Given the description of an element on the screen output the (x, y) to click on. 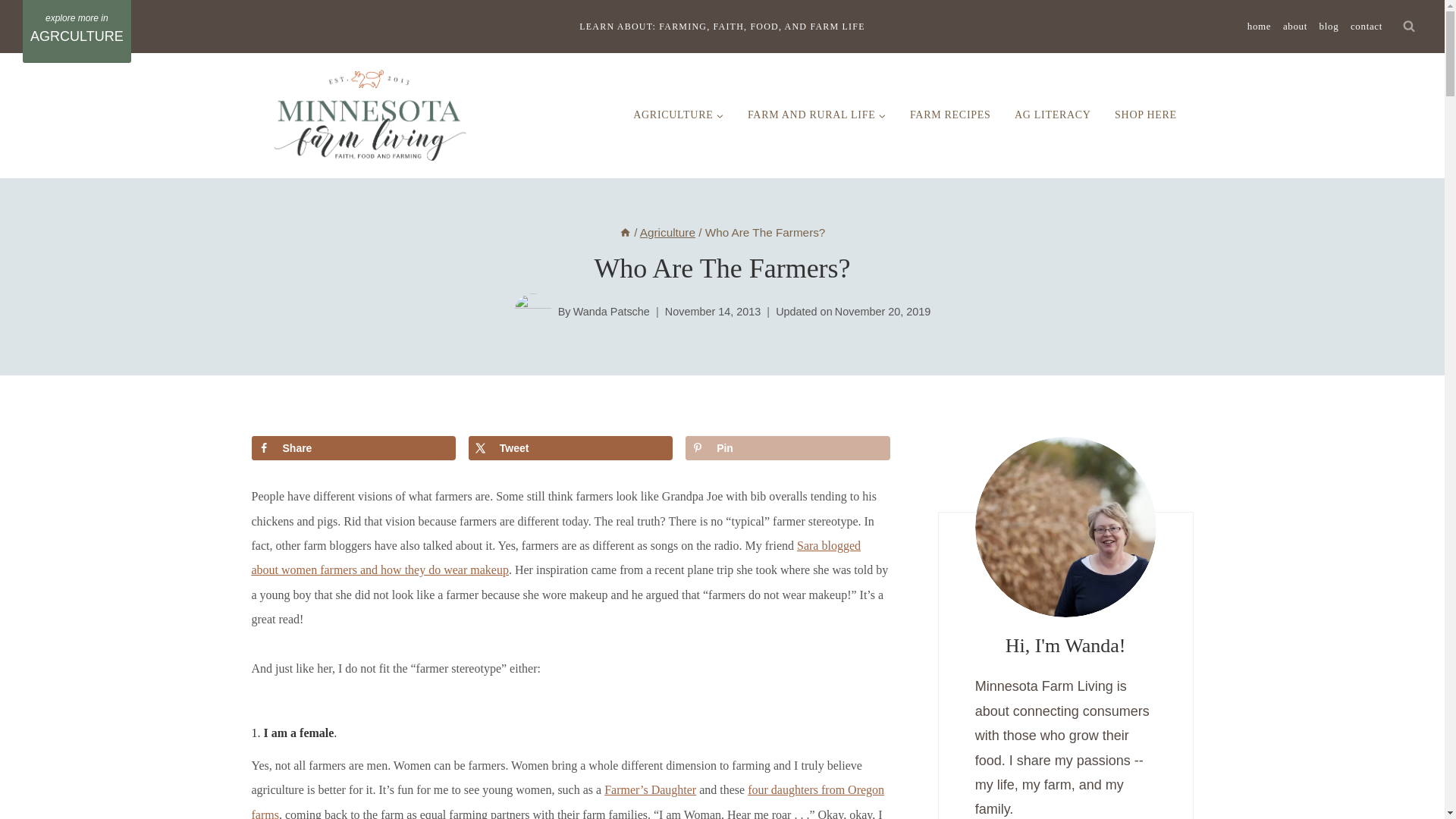
AG LITERACY (1052, 115)
Save to Pinterest (787, 447)
contact (1366, 25)
AGRCULTURE (77, 31)
blog (1328, 25)
about (1294, 25)
Women Farmers, Yes we Wear Makeup (555, 557)
Farmers Daughter - redesigning my life (649, 789)
Sara blogged about women farmers and how they do wear makeup (555, 557)
Share on Facebook (353, 447)
